Given the description of an element on the screen output the (x, y) to click on. 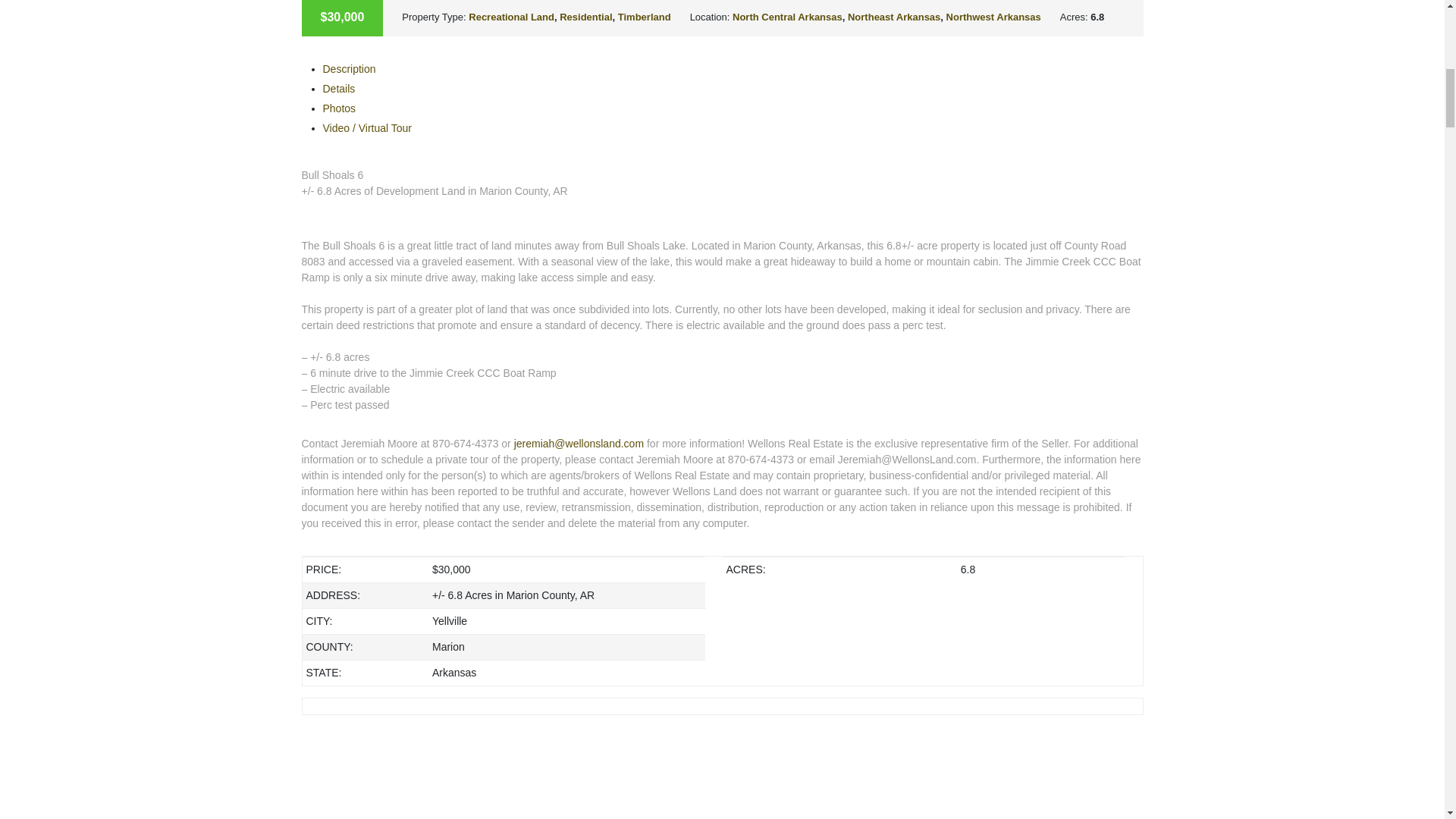
Residential (585, 16)
Timberland (644, 16)
Recreational Land (511, 16)
